Given the description of an element on the screen output the (x, y) to click on. 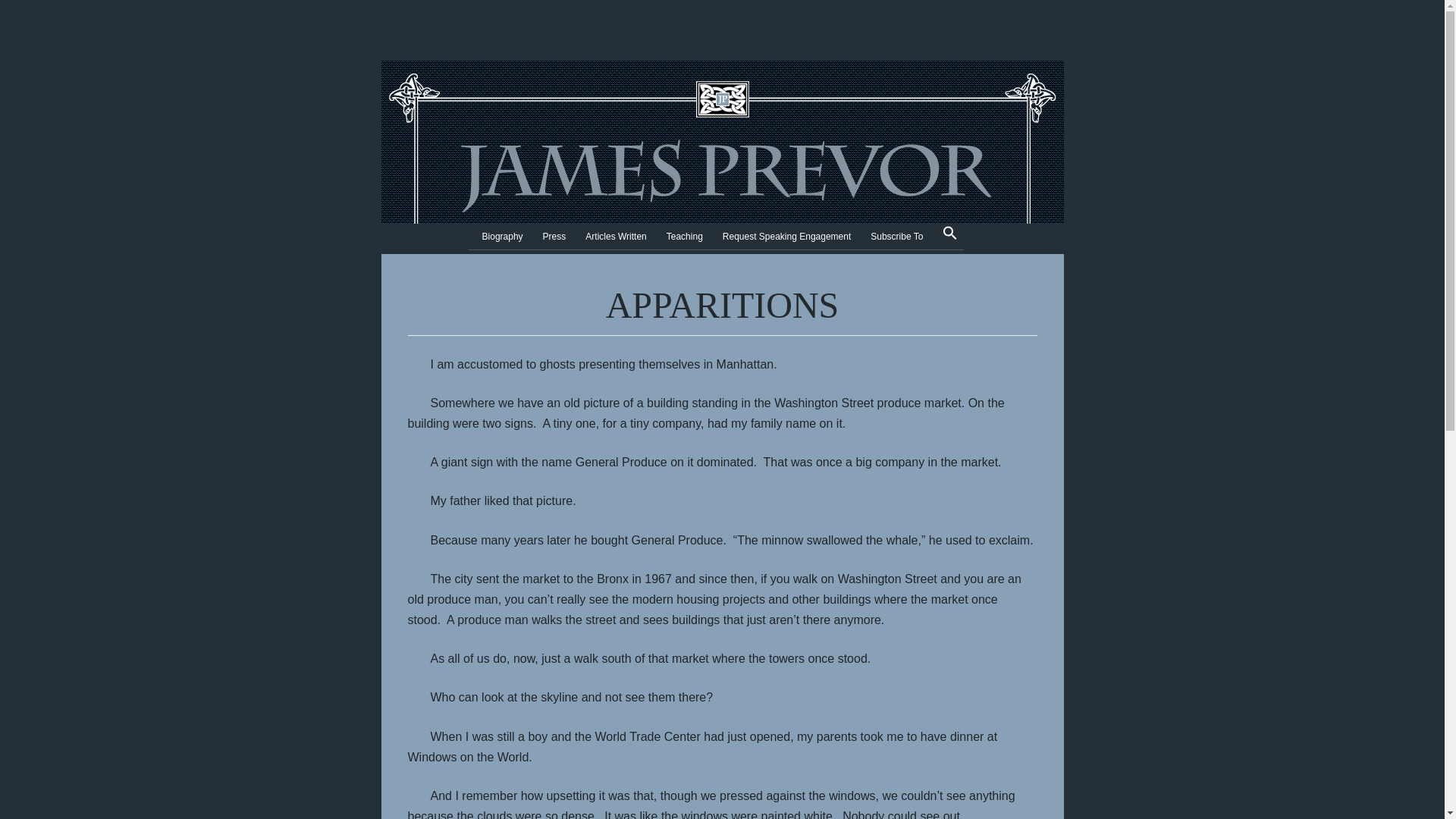
Biography (502, 236)
Press (554, 236)
Press (554, 236)
Articles Written (615, 236)
Articles Written (615, 236)
Biography (502, 236)
